Given the description of an element on the screen output the (x, y) to click on. 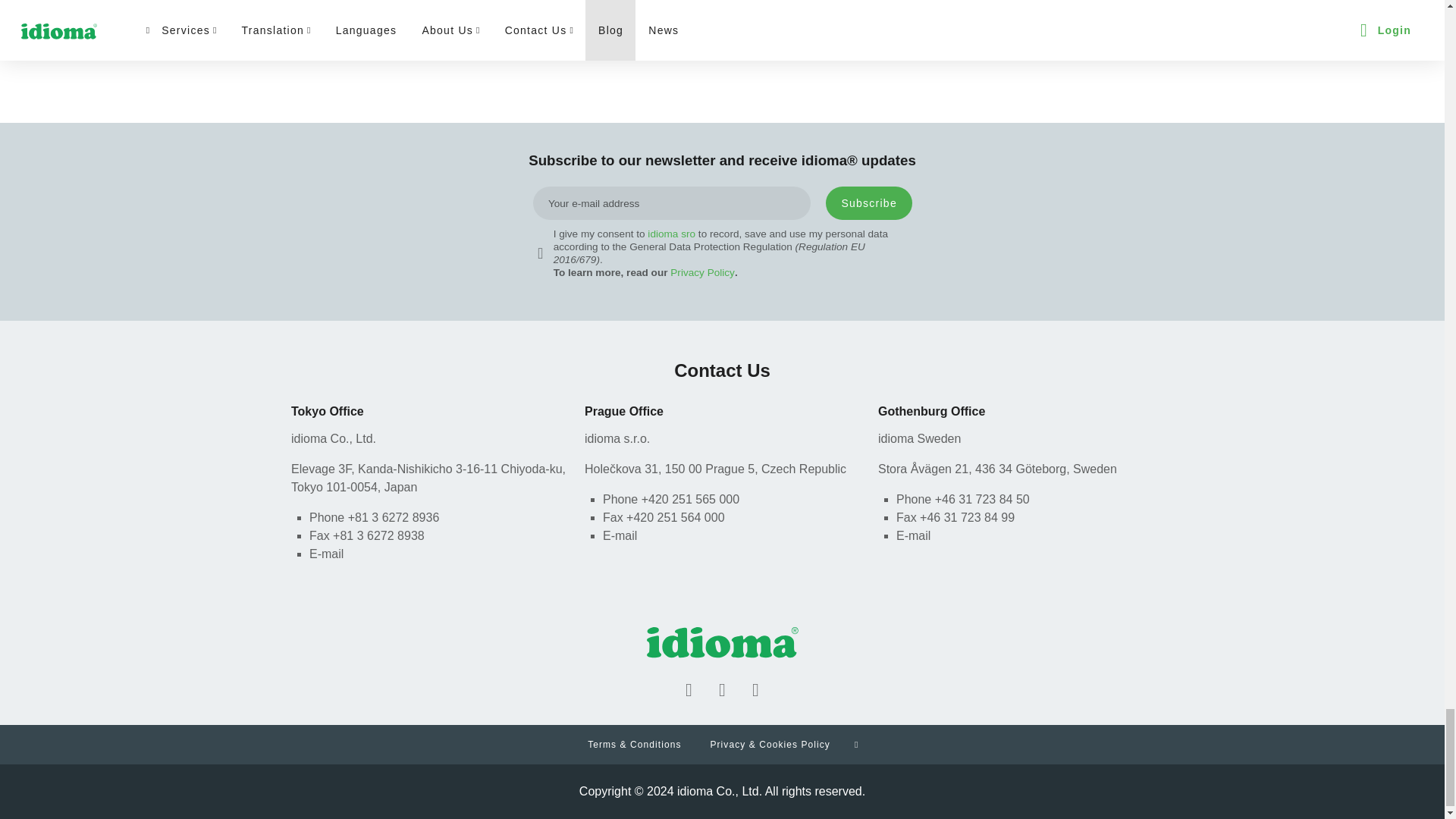
LinkedIn (721, 689)
Twitter (754, 689)
Cookie settings (855, 744)
Facebook (688, 689)
